Given the description of an element on the screen output the (x, y) to click on. 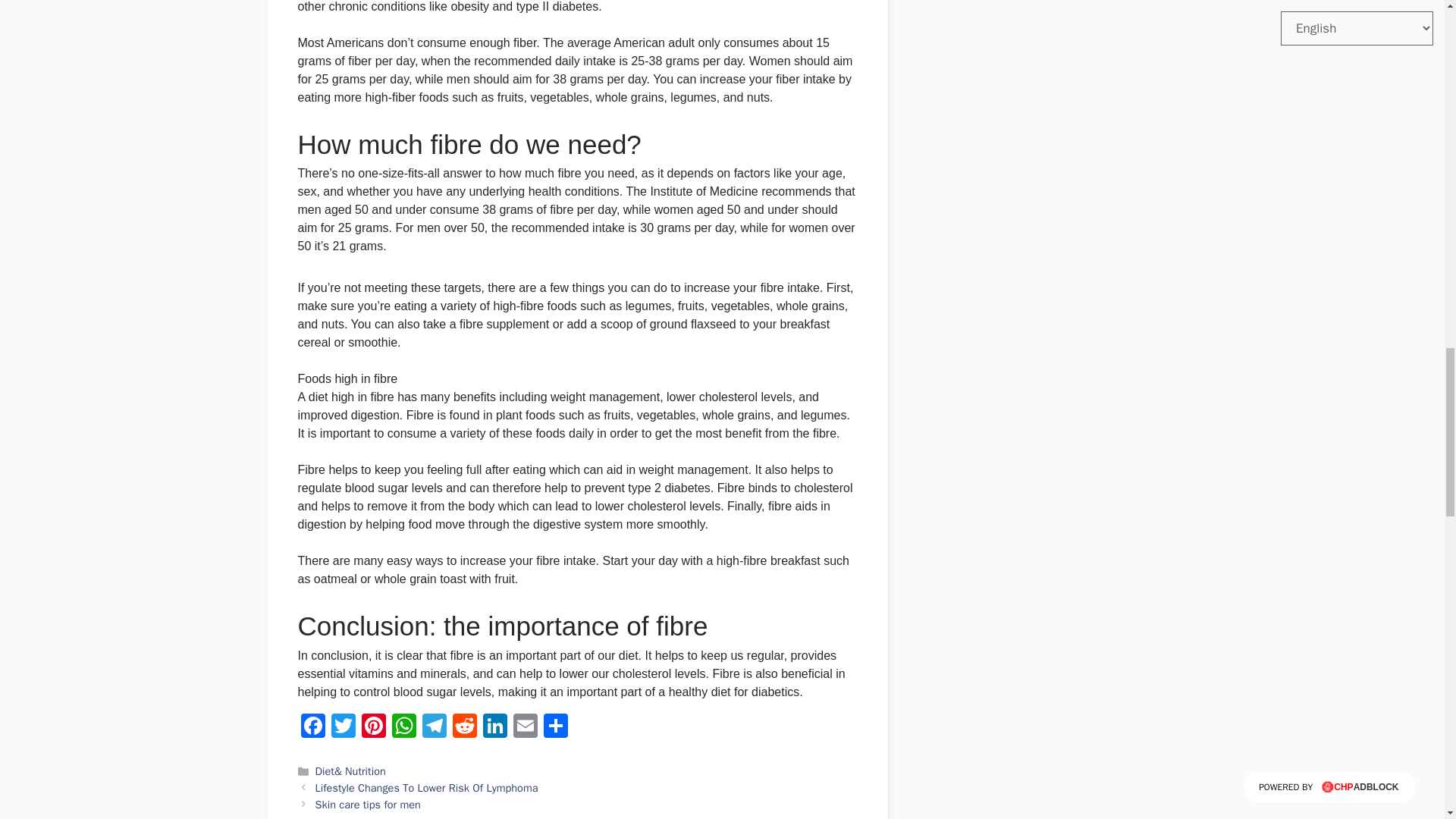
Telegram (433, 727)
Facebook (312, 727)
Lifestyle Changes To Lower Risk Of Lymphoma (426, 787)
Twitter (342, 727)
LinkedIn (494, 727)
Facebook (312, 727)
Pinterest (373, 727)
Email (524, 727)
WhatsApp (403, 727)
Share (555, 727)
Reddit (463, 727)
